Given the description of an element on the screen output the (x, y) to click on. 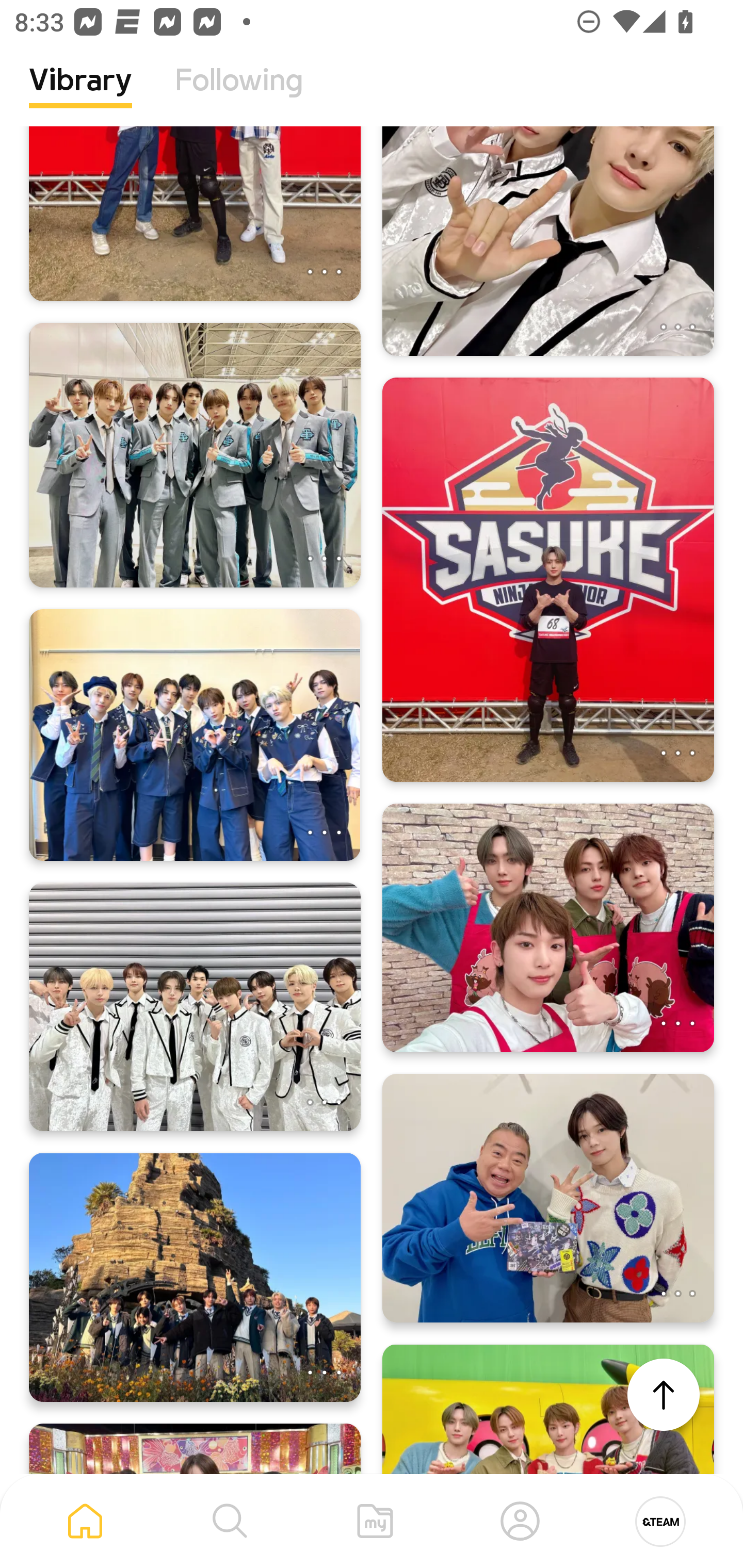
Vibrary (80, 95)
Following (239, 95)
